Given the description of an element on the screen output the (x, y) to click on. 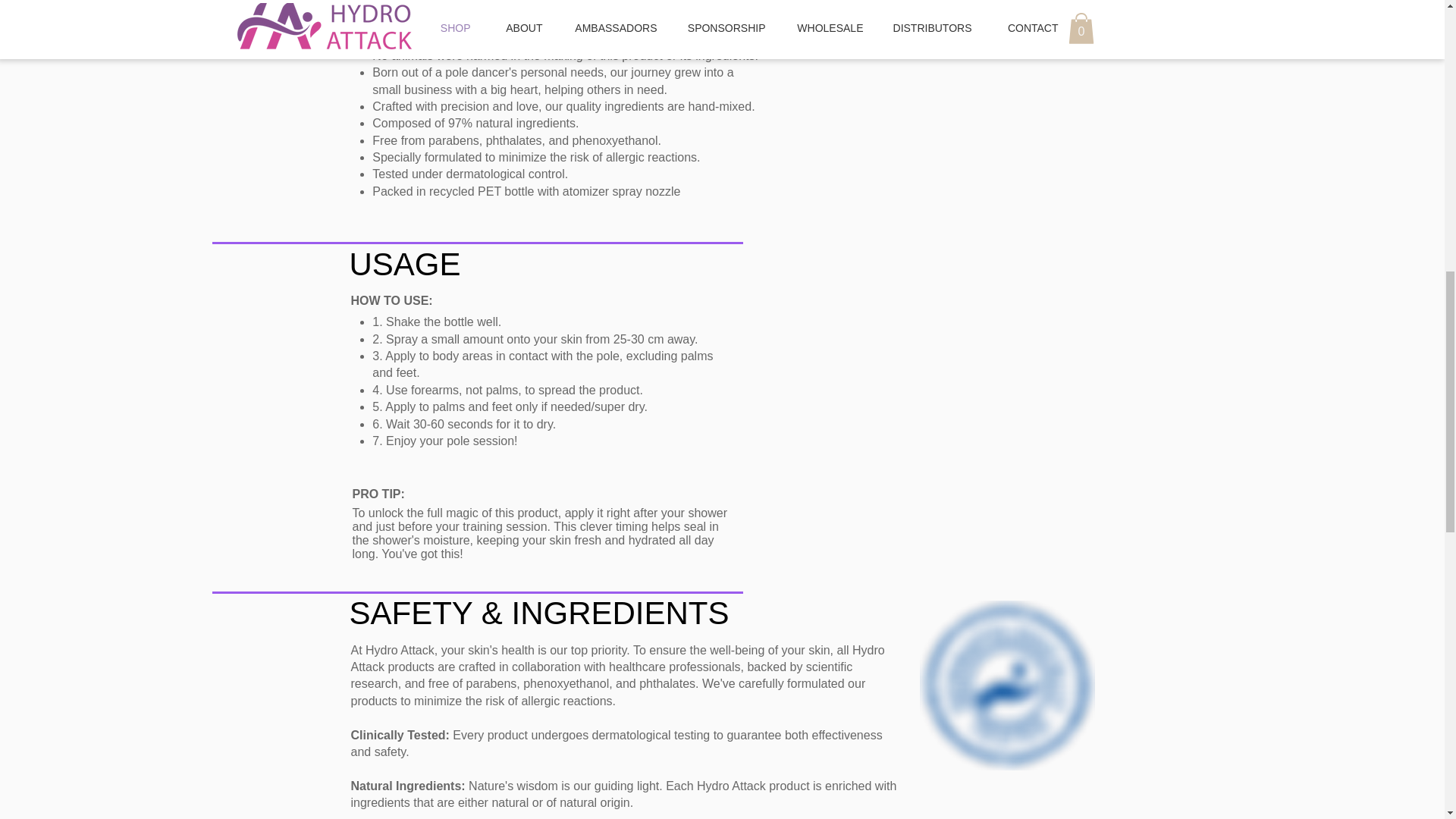
External YouTube (962, 81)
External YouTube (962, 382)
